Given the description of an element on the screen output the (x, y) to click on. 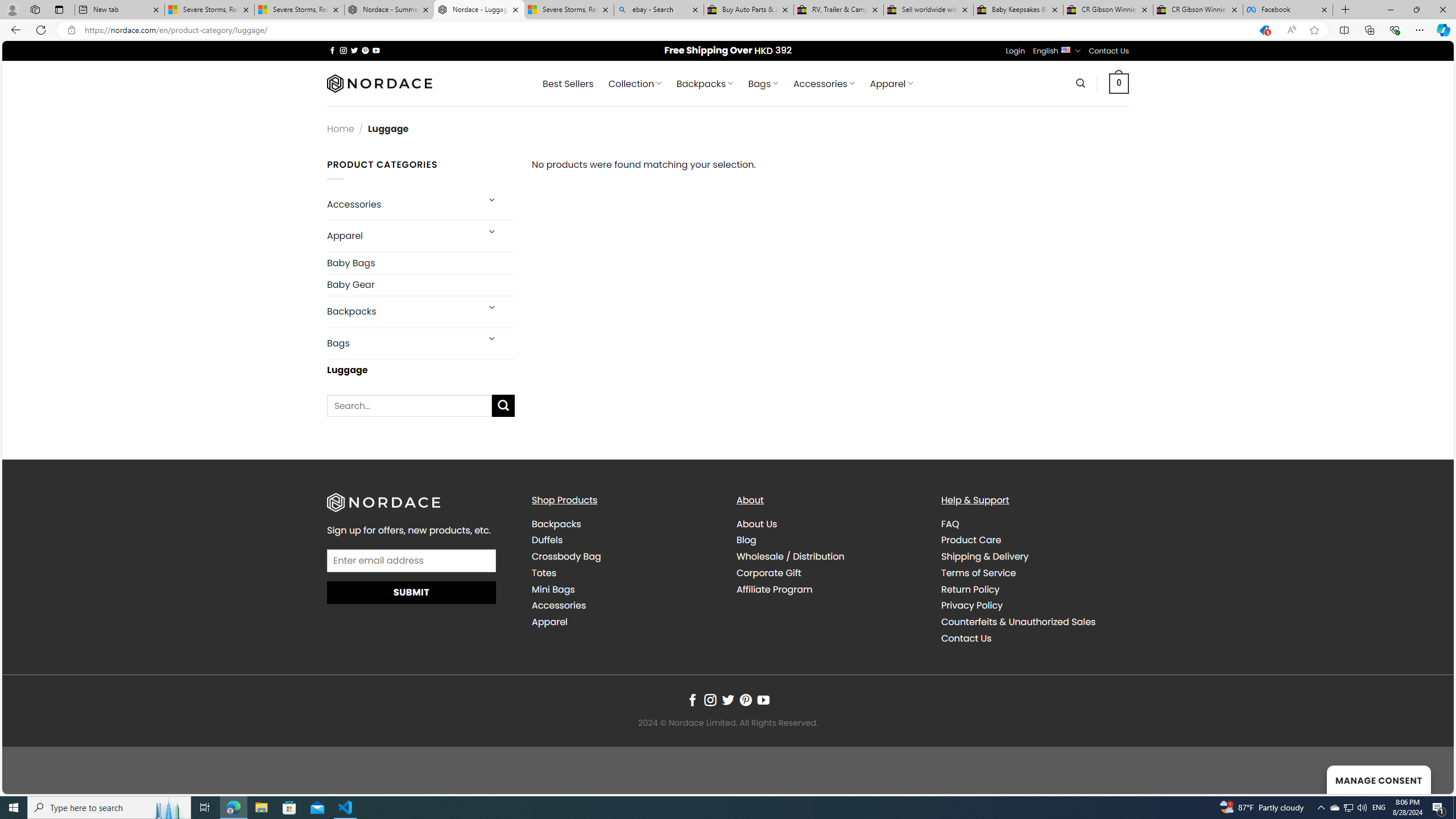
Browser essentials (1394, 29)
App bar (728, 29)
Mini Bags (625, 589)
AutomationID: input_4_1 (411, 560)
Luggage (421, 369)
Product Care (1034, 540)
Totes (543, 572)
Duffels (625, 540)
Counterfeits & Unauthorized Sales (1034, 622)
Follow on Instagram (710, 700)
Address and search bar (664, 29)
